Given the description of an element on the screen output the (x, y) to click on. 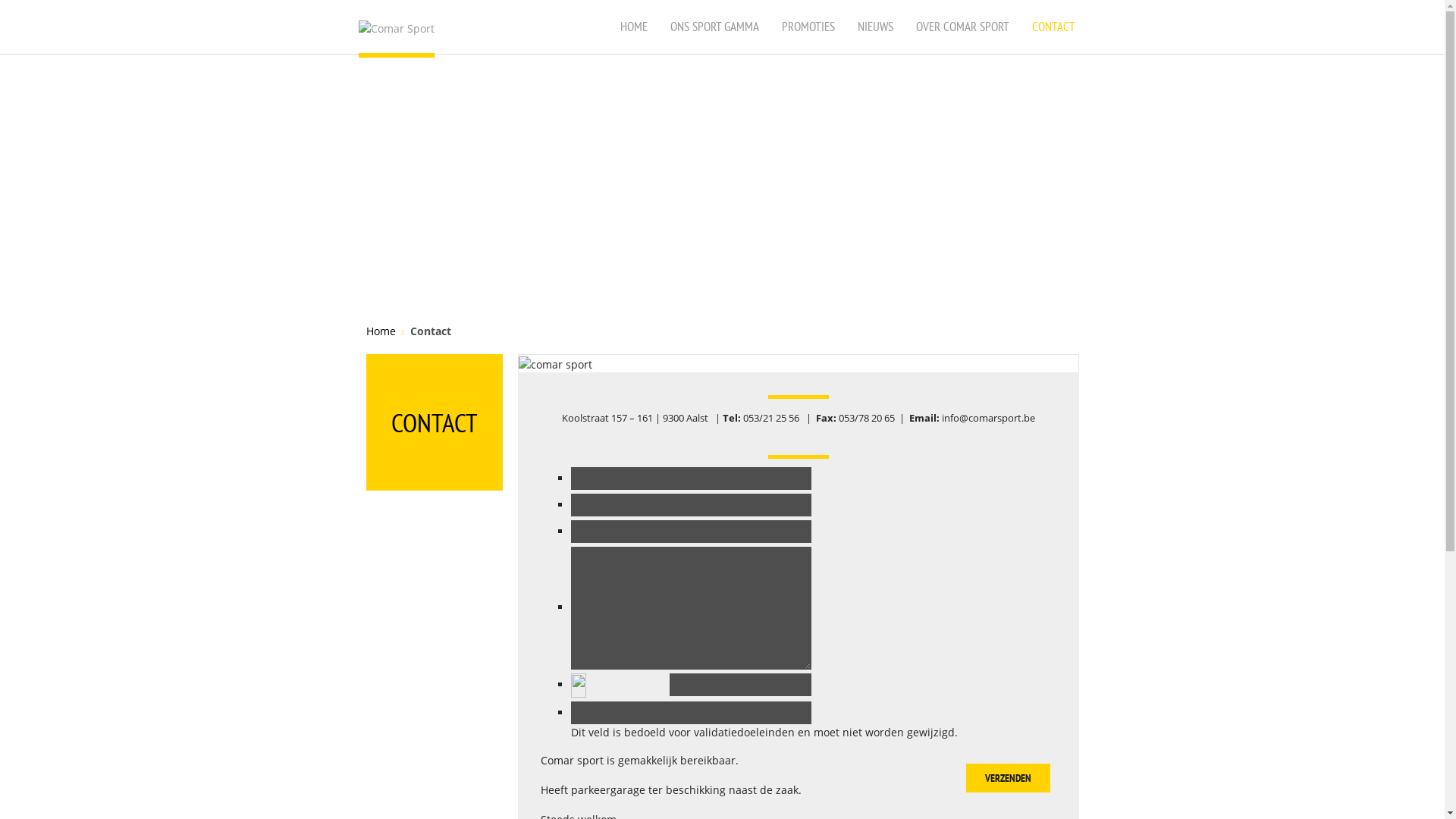
OVER COMAR SPORT Element type: text (961, 26)
PROMOTIES Element type: text (808, 26)
Home Element type: text (380, 330)
VERZENDEN Element type: text (1008, 777)
CONTACT Element type: text (1053, 26)
HOME Element type: text (633, 26)
NIEUWS Element type: text (875, 26)
ONS SPORT GAMMA Element type: text (713, 26)
